Given the description of an element on the screen output the (x, y) to click on. 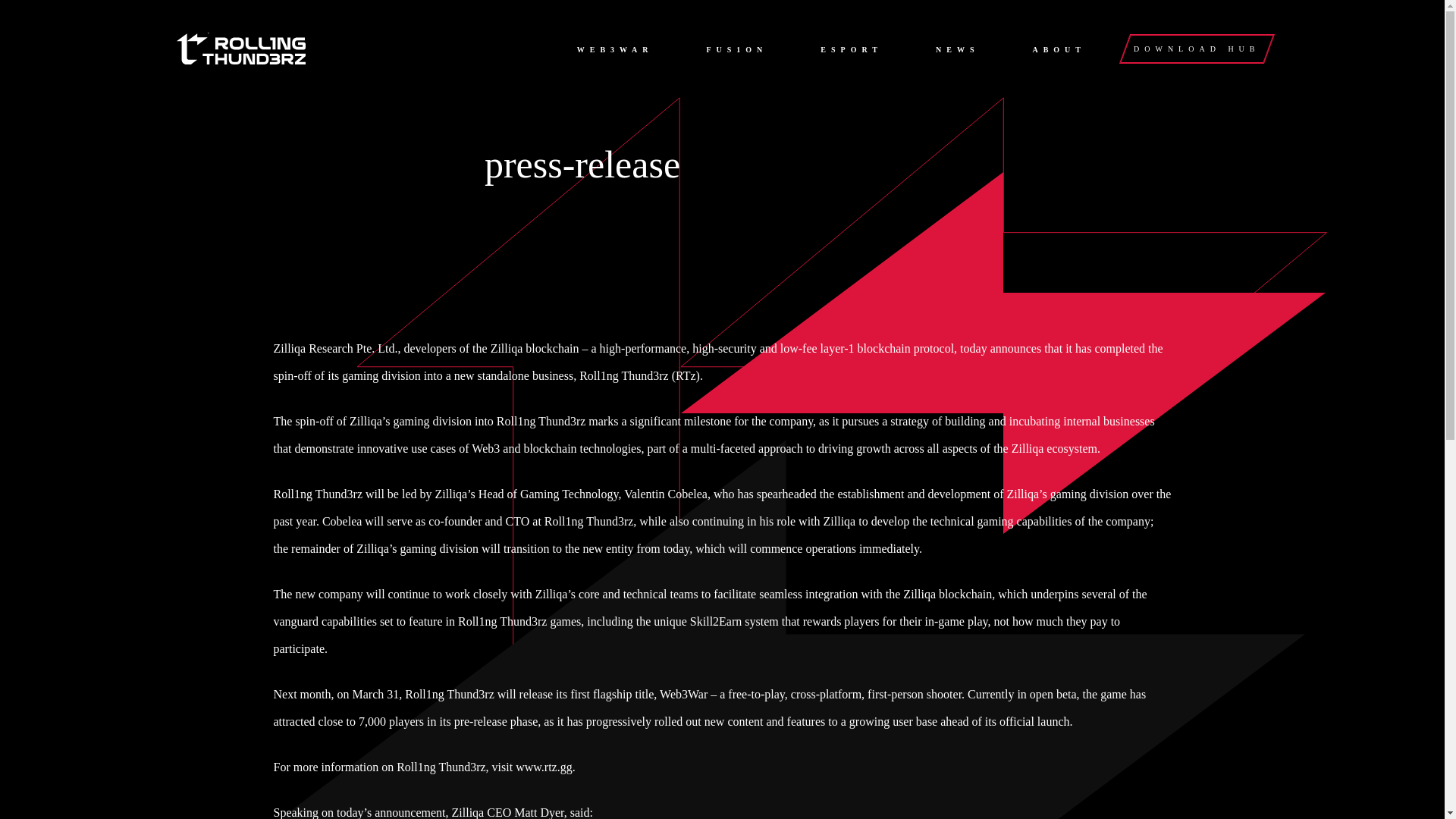
ABOUT (1056, 49)
www.rtz.gg. (545, 766)
Roll1ng Thund3rz (623, 375)
FUS1ON (734, 49)
NEWS (954, 49)
Zilliqa blockchain (534, 348)
ESPORT (848, 49)
DOWNLOAD HUB (1191, 49)
Web3War (683, 694)
WEB3WAR (612, 49)
